Given the description of an element on the screen output the (x, y) to click on. 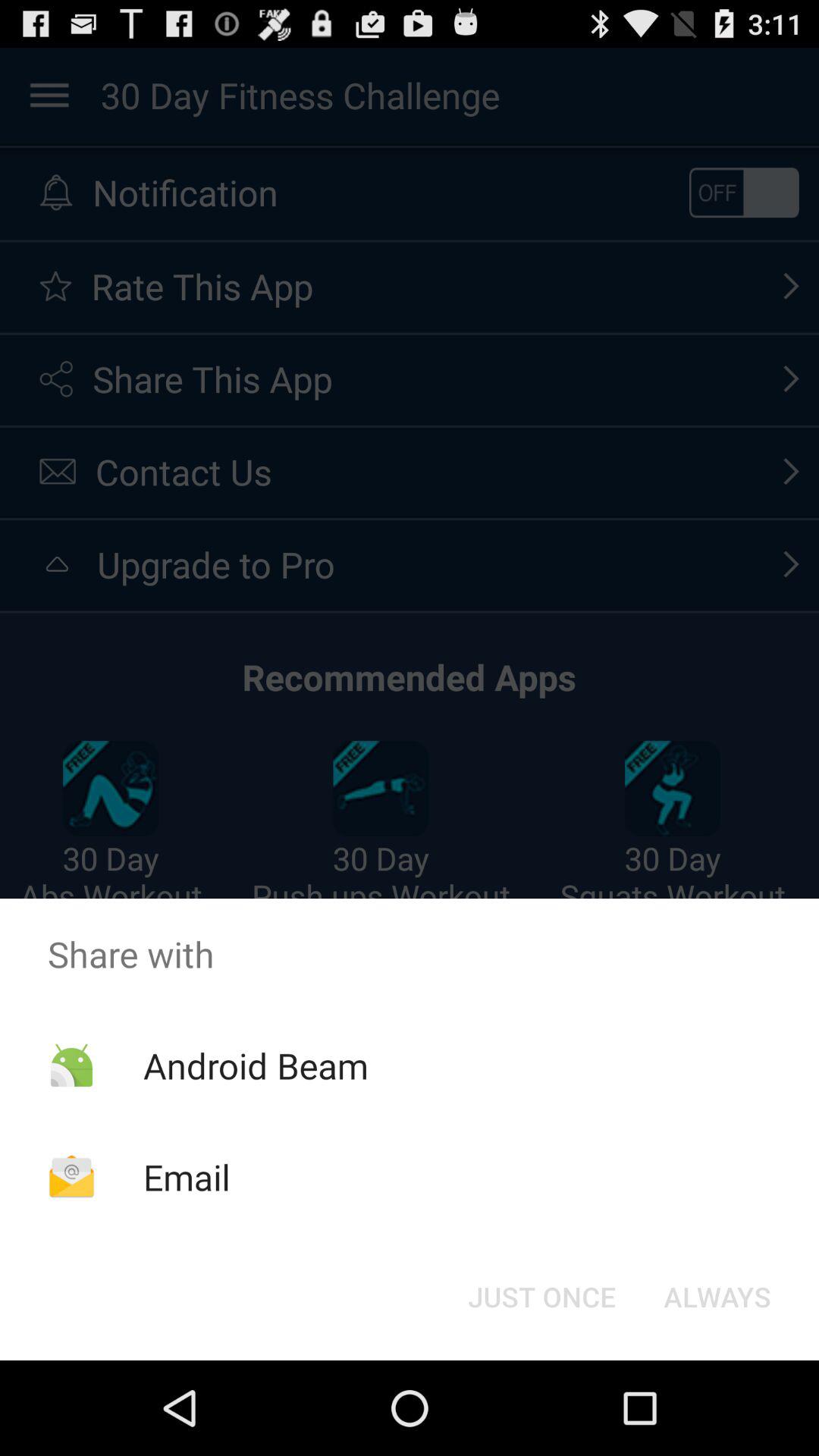
scroll until the always item (717, 1296)
